Given the description of an element on the screen output the (x, y) to click on. 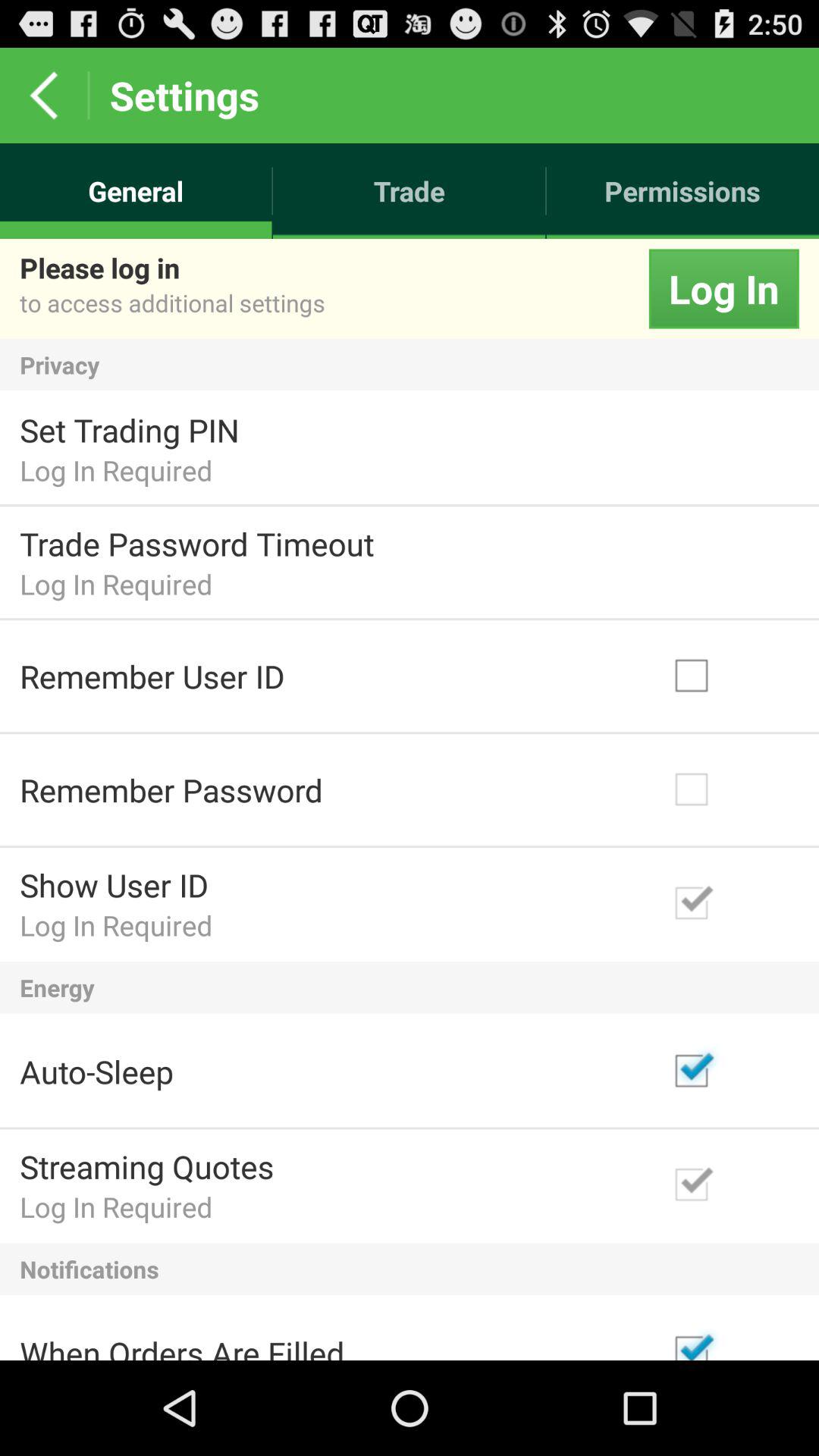
jump until the when orders are app (181, 1345)
